Given the description of an element on the screen output the (x, y) to click on. 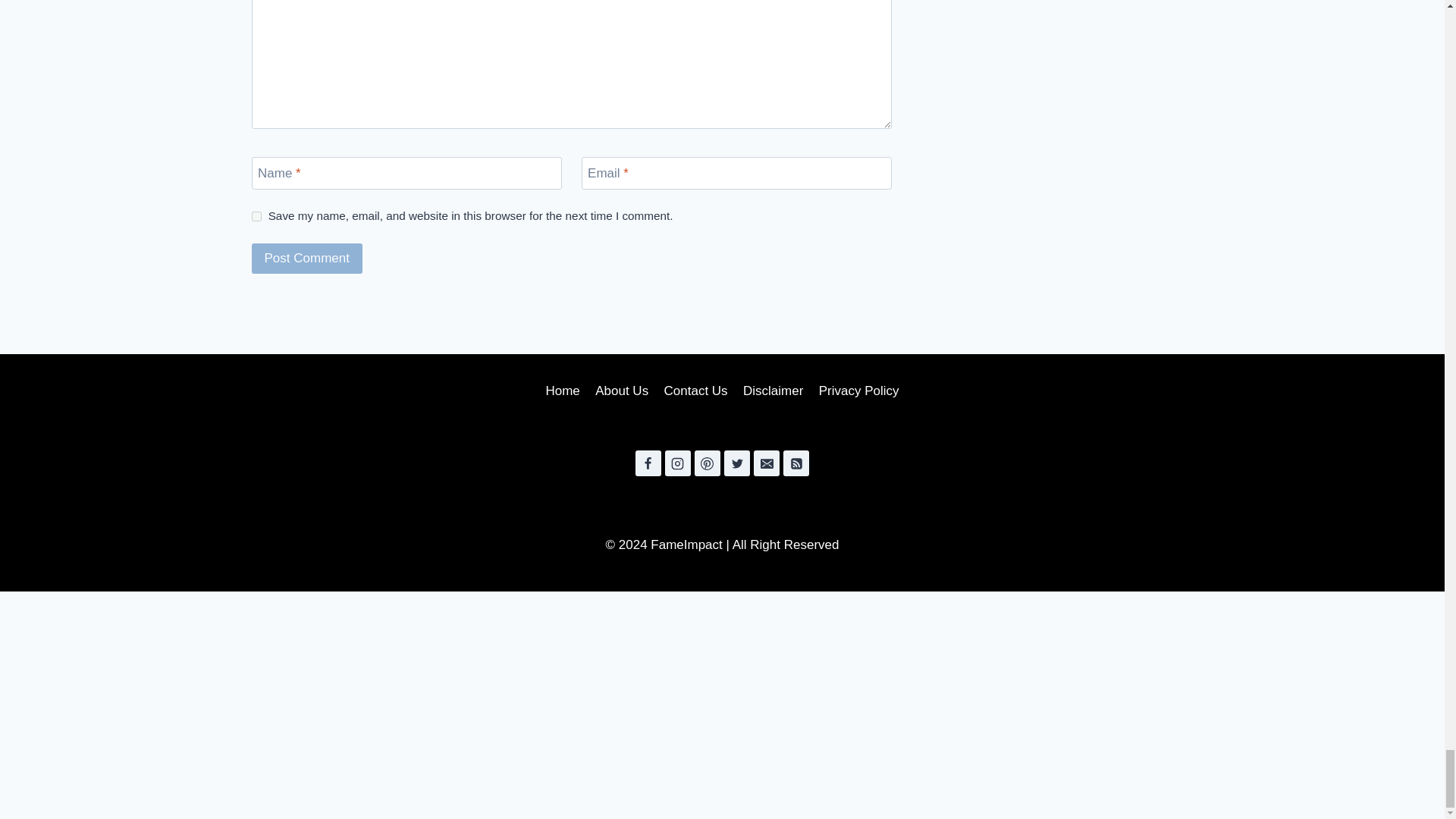
Post Comment (306, 258)
yes (256, 216)
